Given the description of an element on the screen output the (x, y) to click on. 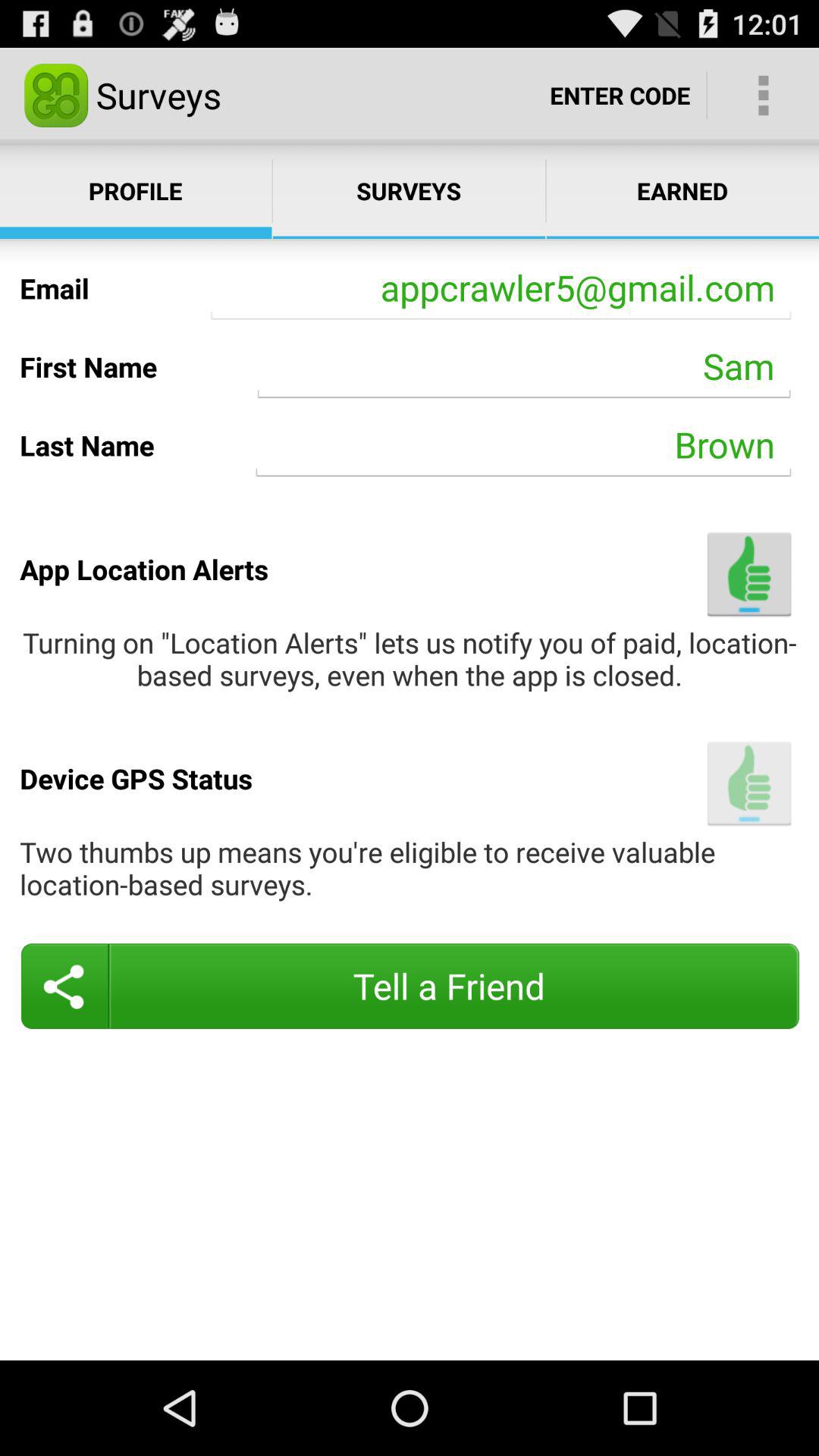
choose item below two thumbs up (409, 985)
